Given the description of an element on the screen output the (x, y) to click on. 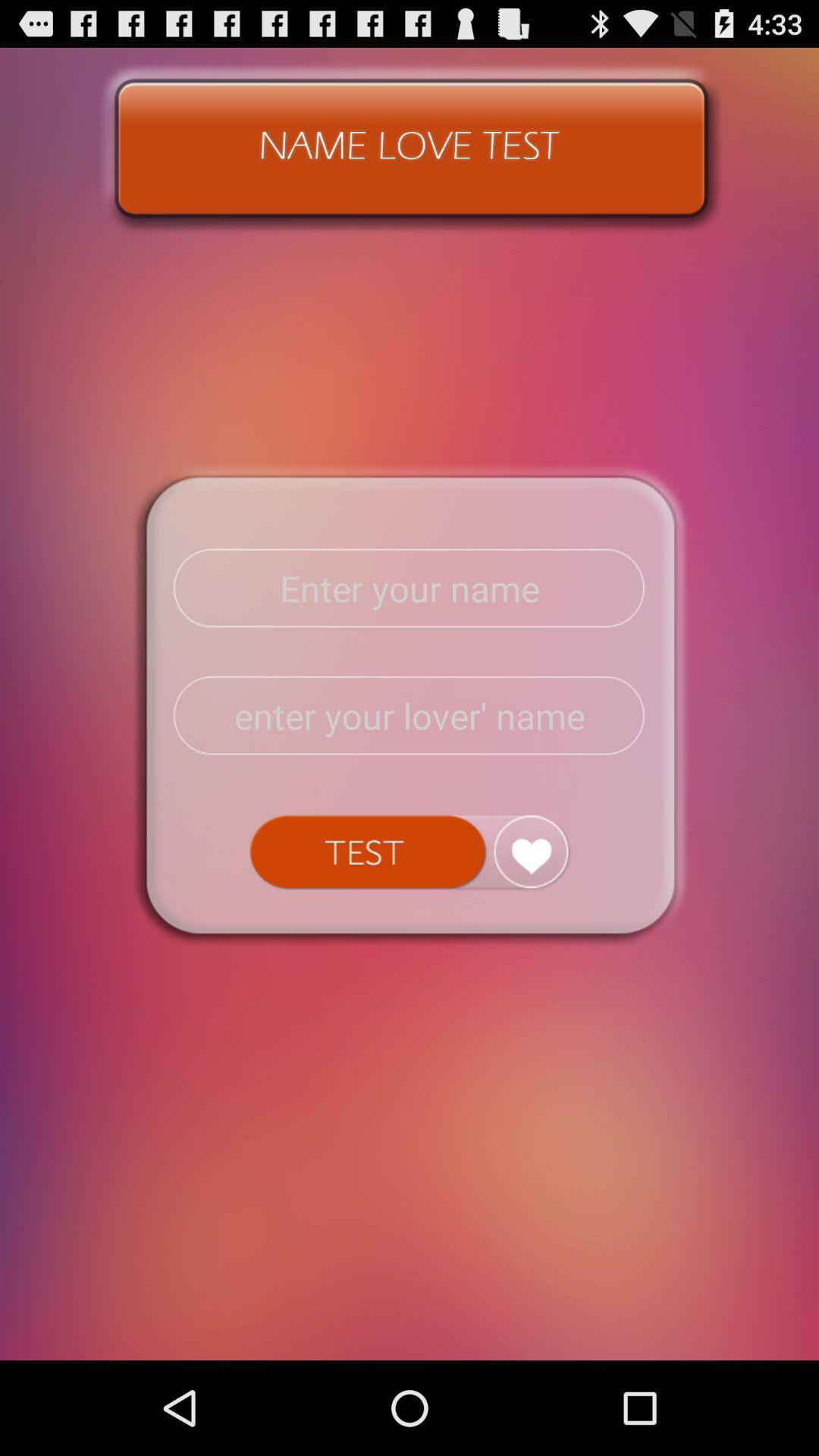
enter lover 's name (409, 715)
